Given the description of an element on the screen output the (x, y) to click on. 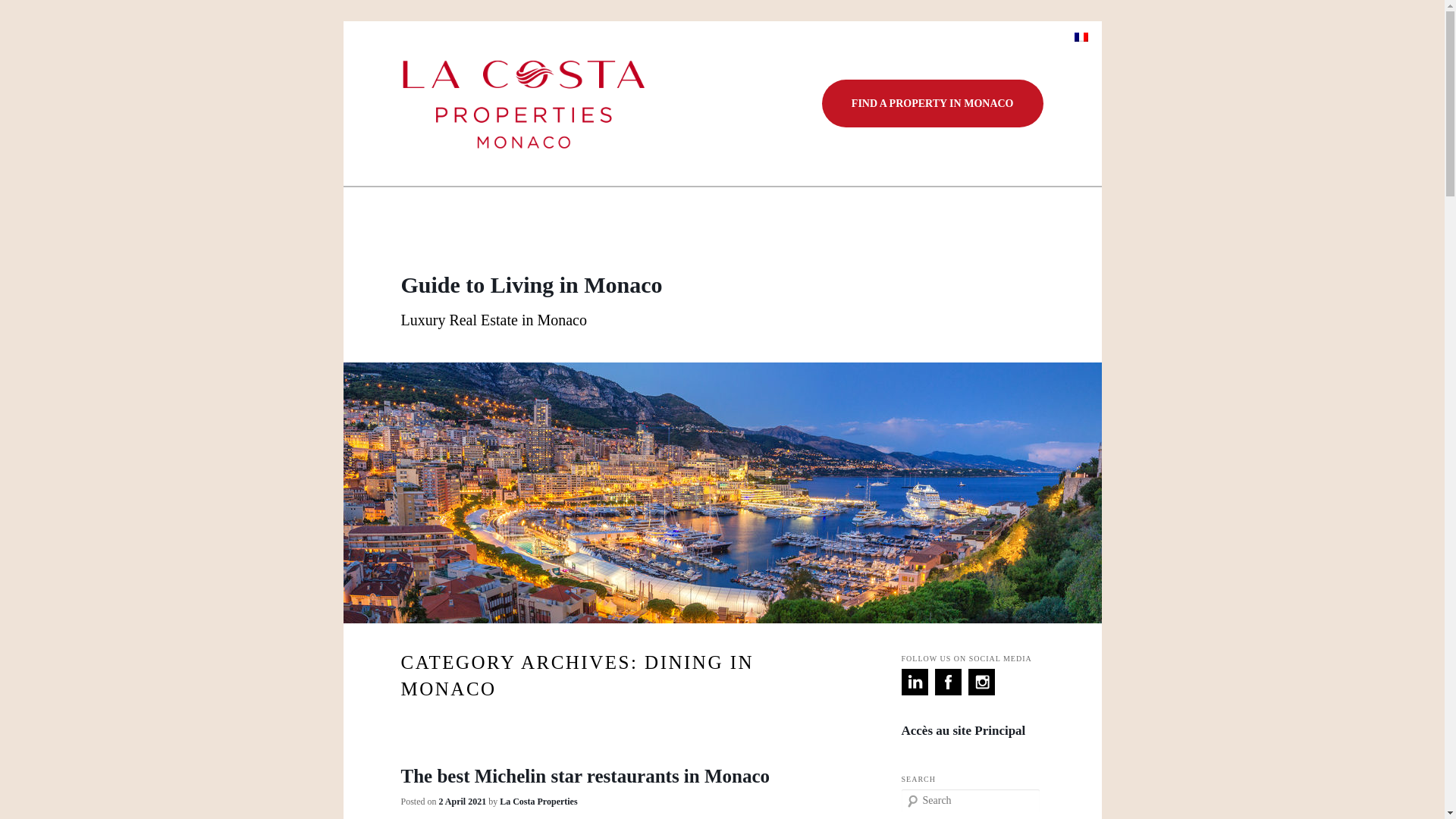
Permalink to The best Michelin star restaurants in Monaco (585, 775)
La Costa Properties (537, 801)
2 April 2021 (462, 801)
Guide to Living in Monaco (531, 284)
11 h 03 min (462, 801)
FIND A PROPERTY IN MONACO (932, 103)
The best Michelin star restaurants in Monaco (585, 775)
Guide to Living in Monaco (531, 284)
View all posts by La Costa Properties (537, 801)
